Given the description of an element on the screen output the (x, y) to click on. 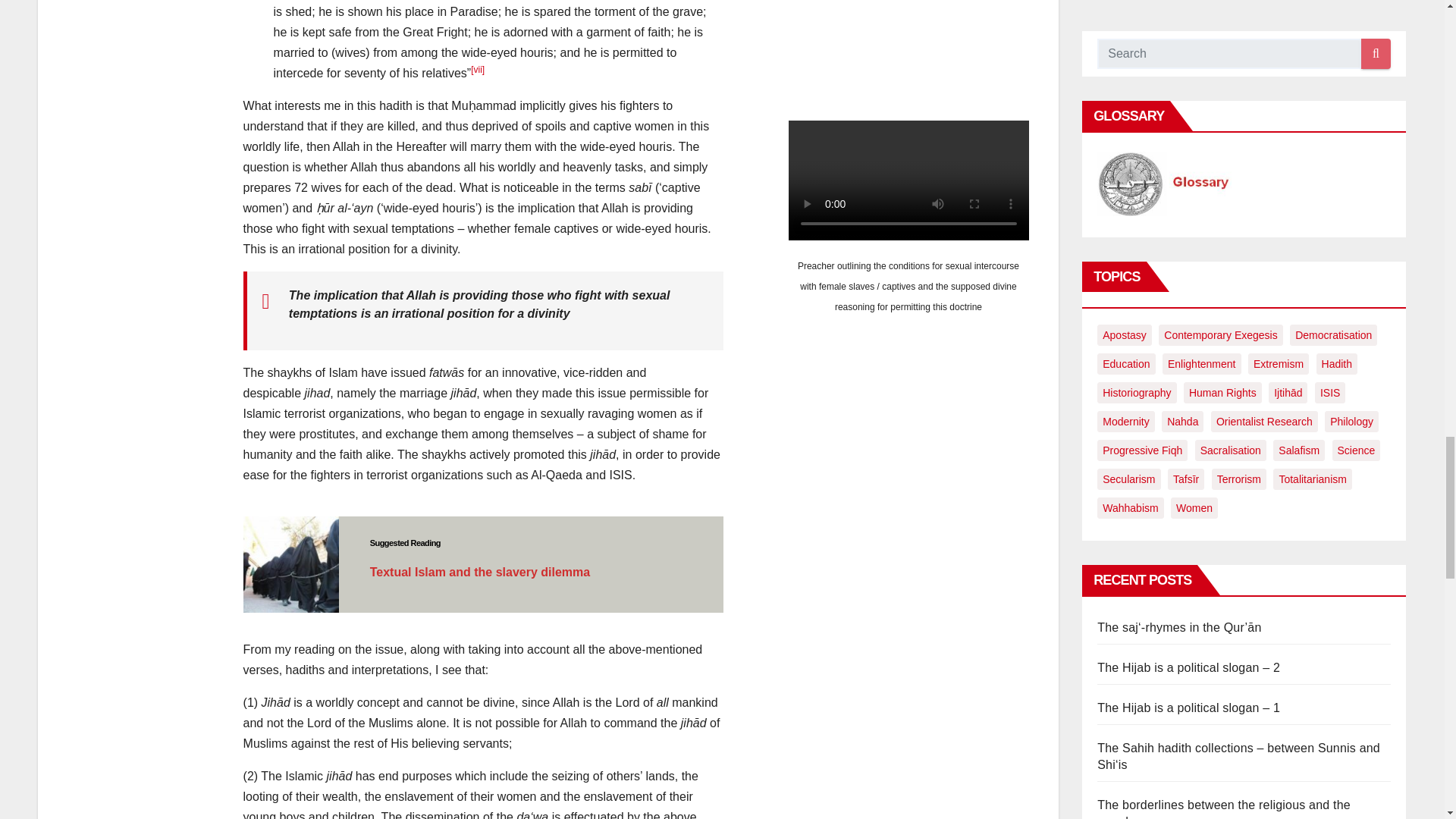
Textual Islam and the slavery dilemma (480, 571)
